Given the description of an element on the screen output the (x, y) to click on. 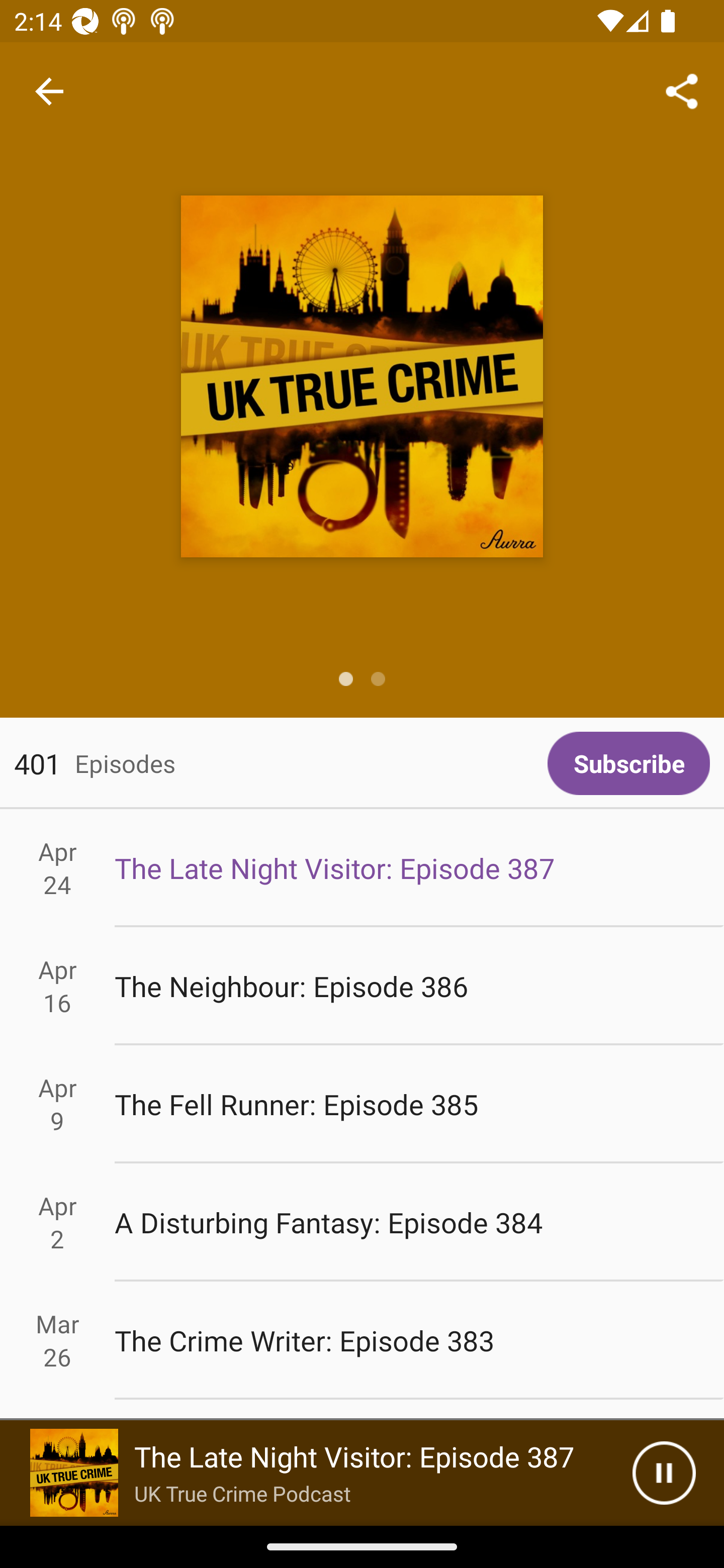
Navigate up (49, 91)
Share... (681, 90)
Subscribe (628, 763)
Apr 24 The Late Night Visitor: Episode 387 (362, 867)
Apr 16 The Neighbour: Episode 386 (362, 985)
Apr 9 The Fell Runner: Episode 385 (362, 1104)
Apr 2 A Disturbing Fantasy: Episode 384 (362, 1222)
Mar 26 The Crime Writer: Episode 383 (362, 1340)
Pause (663, 1472)
